Given the description of an element on the screen output the (x, y) to click on. 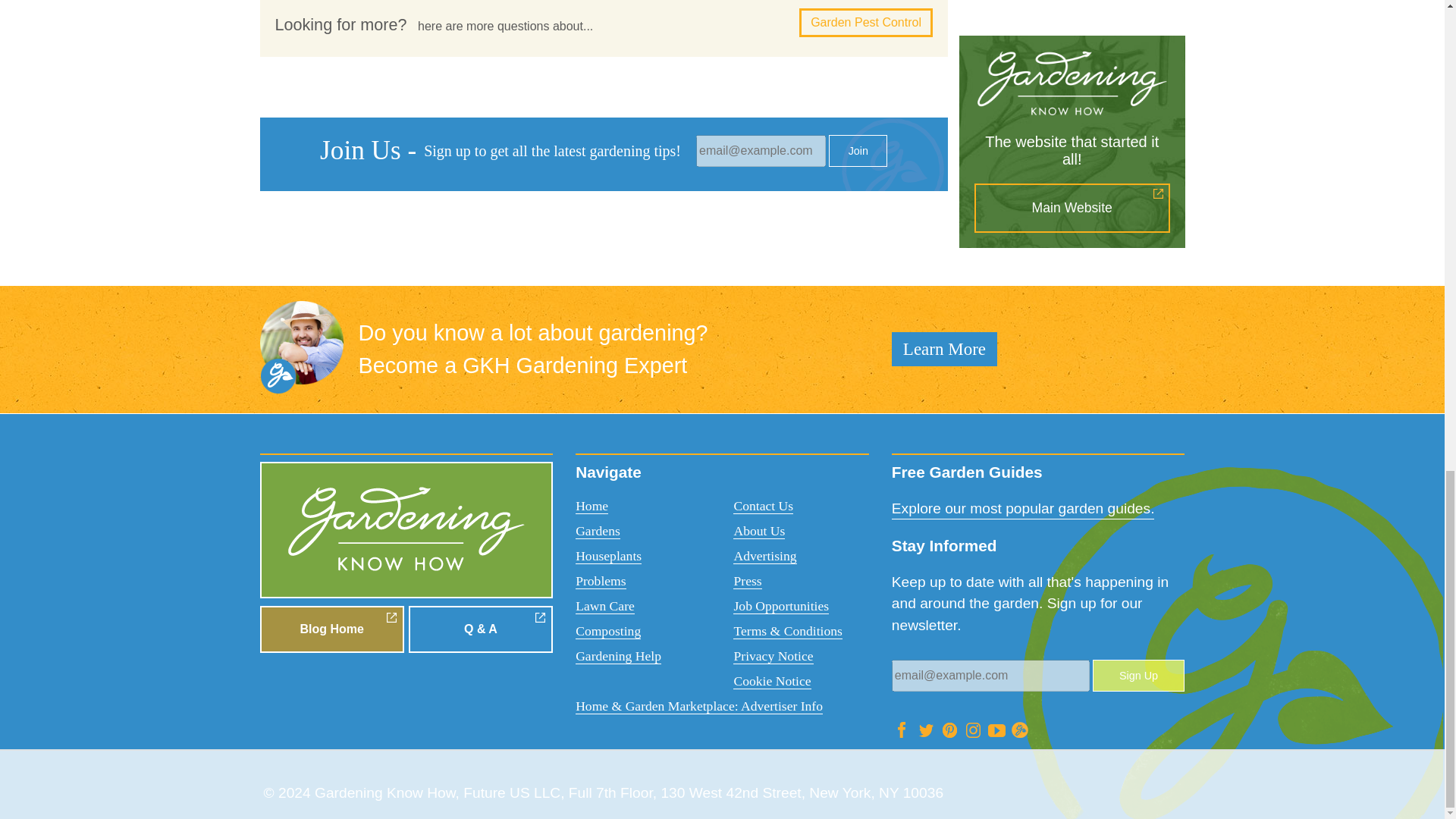
Garden Pest Control (866, 22)
Join (857, 151)
